Given the description of an element on the screen output the (x, y) to click on. 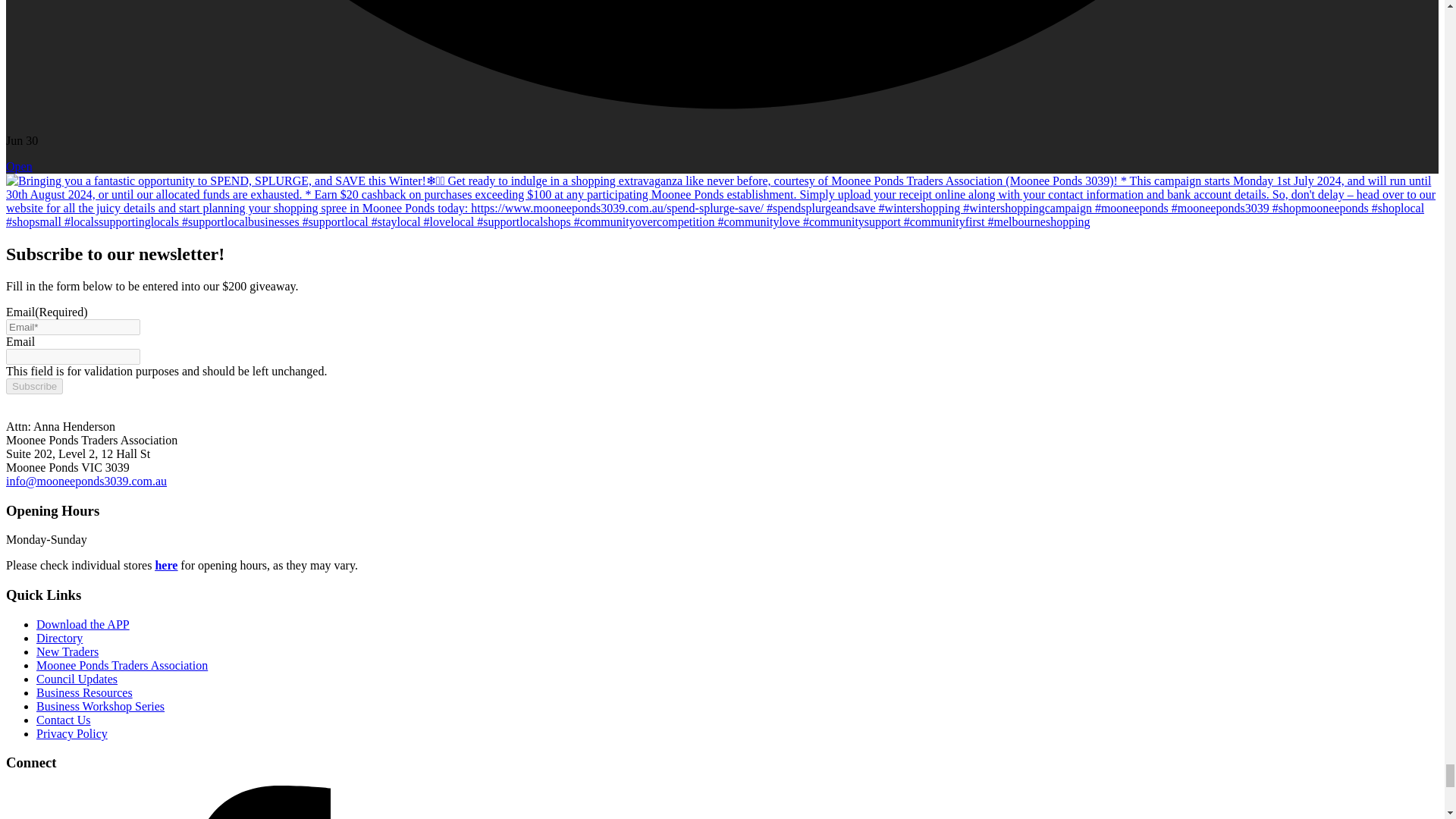
Subscribe (33, 385)
